Given the description of an element on the screen output the (x, y) to click on. 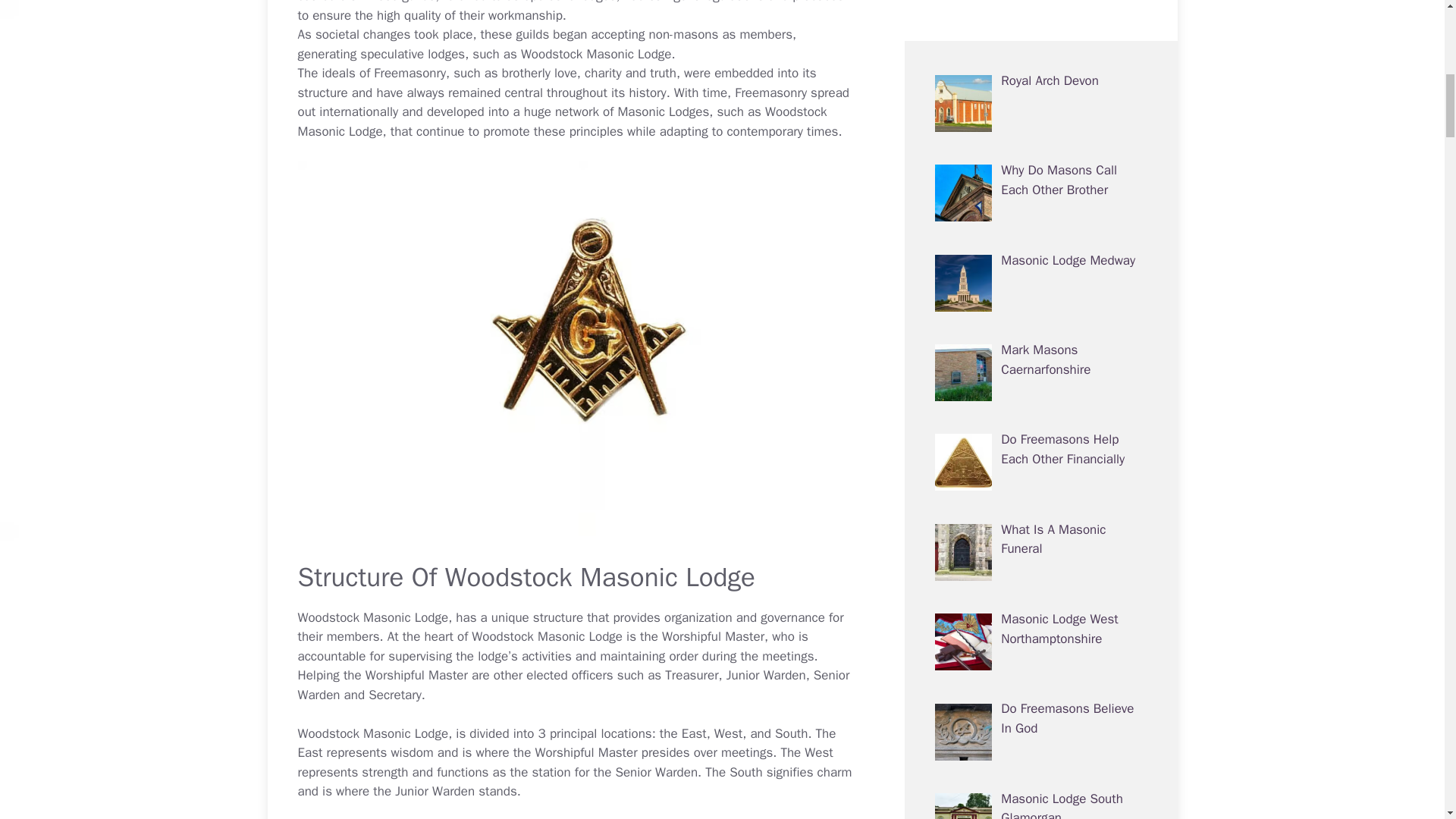
Knights Templar Radnorshire (1046, 151)
How To Enter Freemasonry (1038, 601)
Is George Mason A Freemason (1054, 420)
Masonic Lodge South Glamorgan (1061, 62)
Scroll back to top (1406, 720)
Masonic Mason Ring (1059, 321)
What Does It Cost To Become A Freemason (1062, 241)
Do Freemasons Get Discounts (1056, 690)
Knights Templar Cambridgeshire (1046, 780)
How Do You Join The Freemason Society (1060, 510)
